Given the description of an element on the screen output the (x, y) to click on. 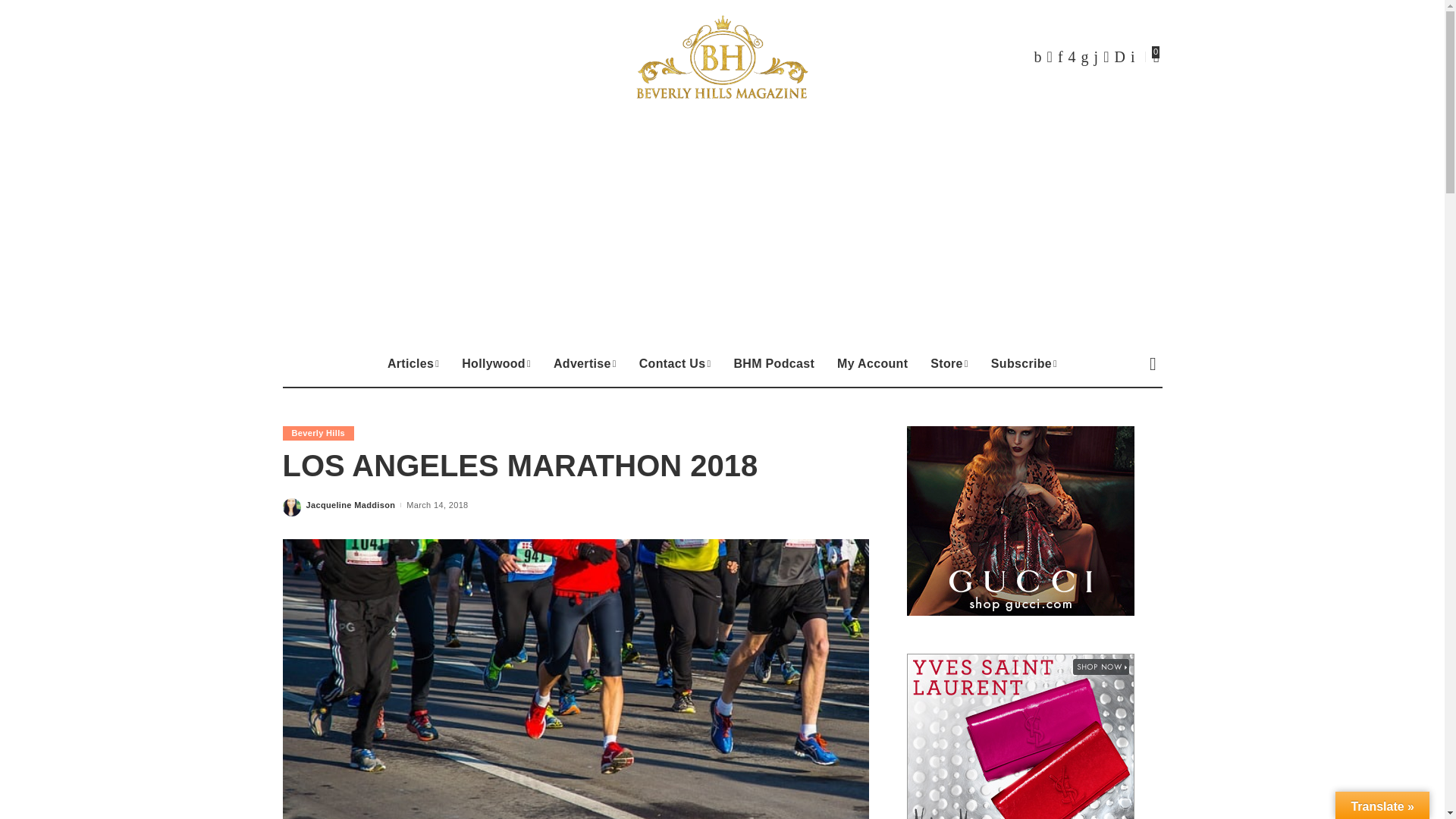
Beverly Hills Magazine (722, 56)
